Given the description of an element on the screen output the (x, y) to click on. 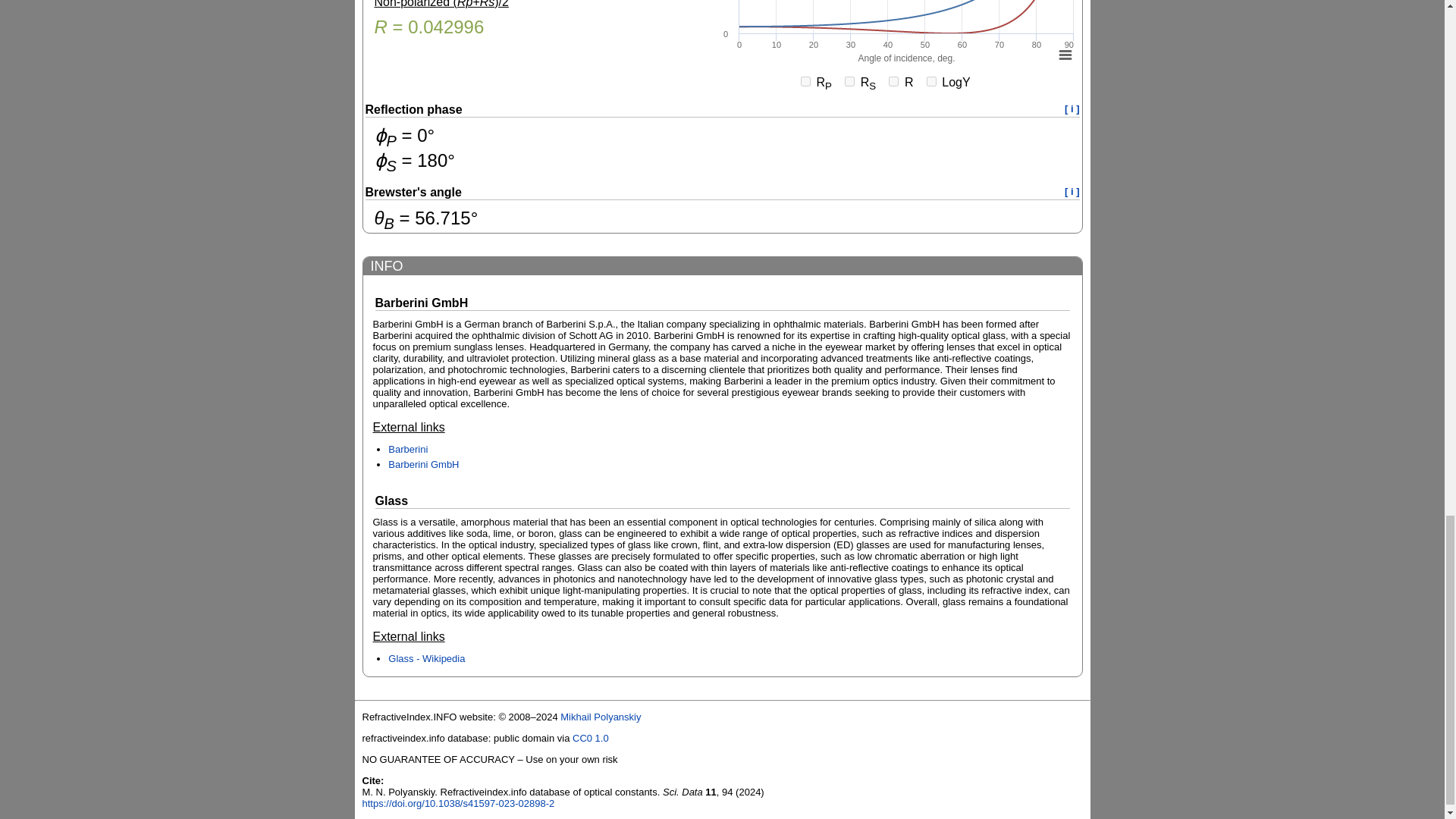
Barberini (408, 449)
Glass - Wikipedia (426, 658)
Mikhail Polyanskiy (600, 716)
CC0 1.0 (590, 737)
Barberini GmbH (423, 464)
